Given the description of an element on the screen output the (x, y) to click on. 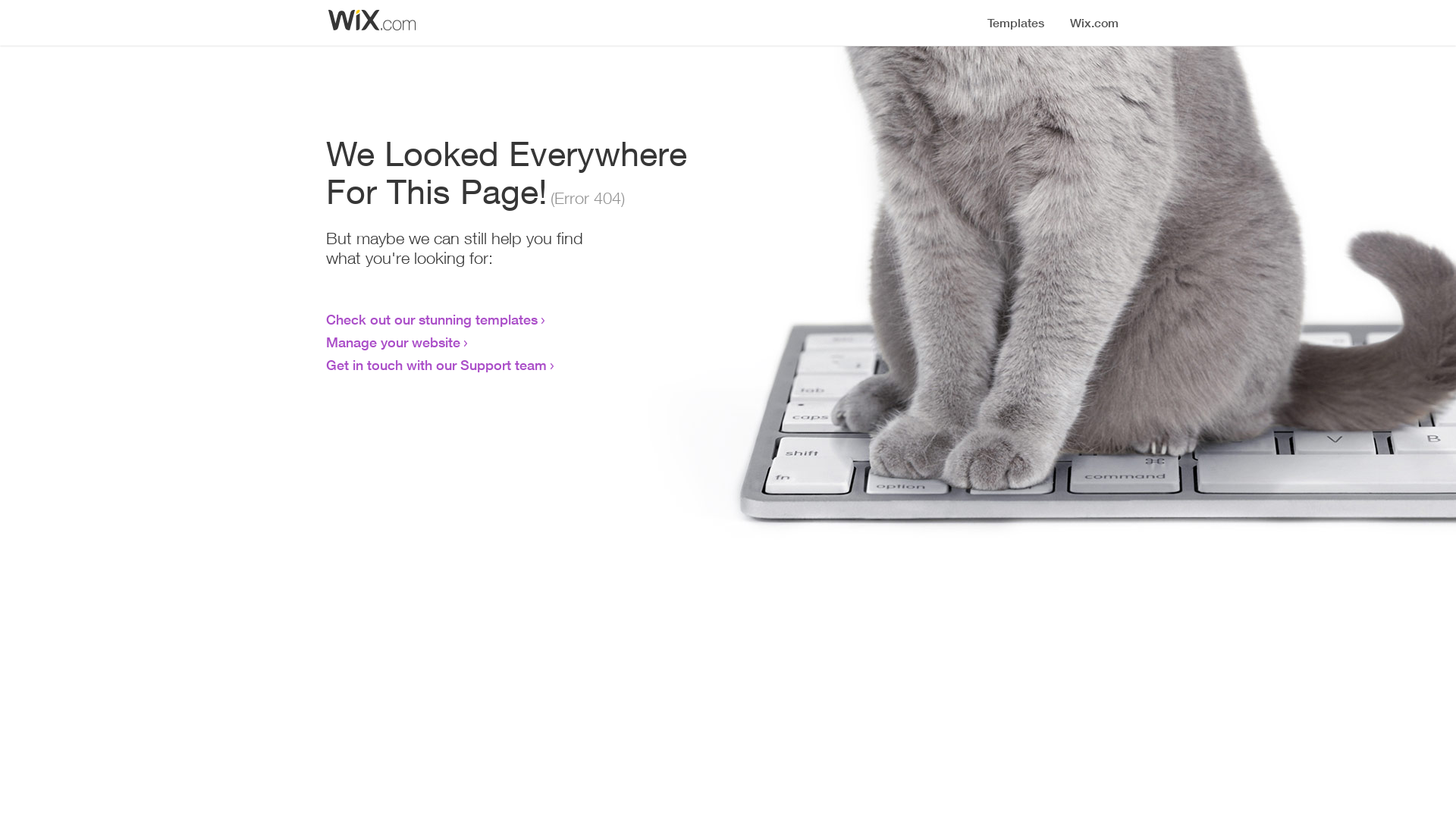
Get in touch with our Support team Element type: text (436, 364)
Check out our stunning templates Element type: text (431, 318)
Manage your website Element type: text (393, 341)
